Given the description of an element on the screen output the (x, y) to click on. 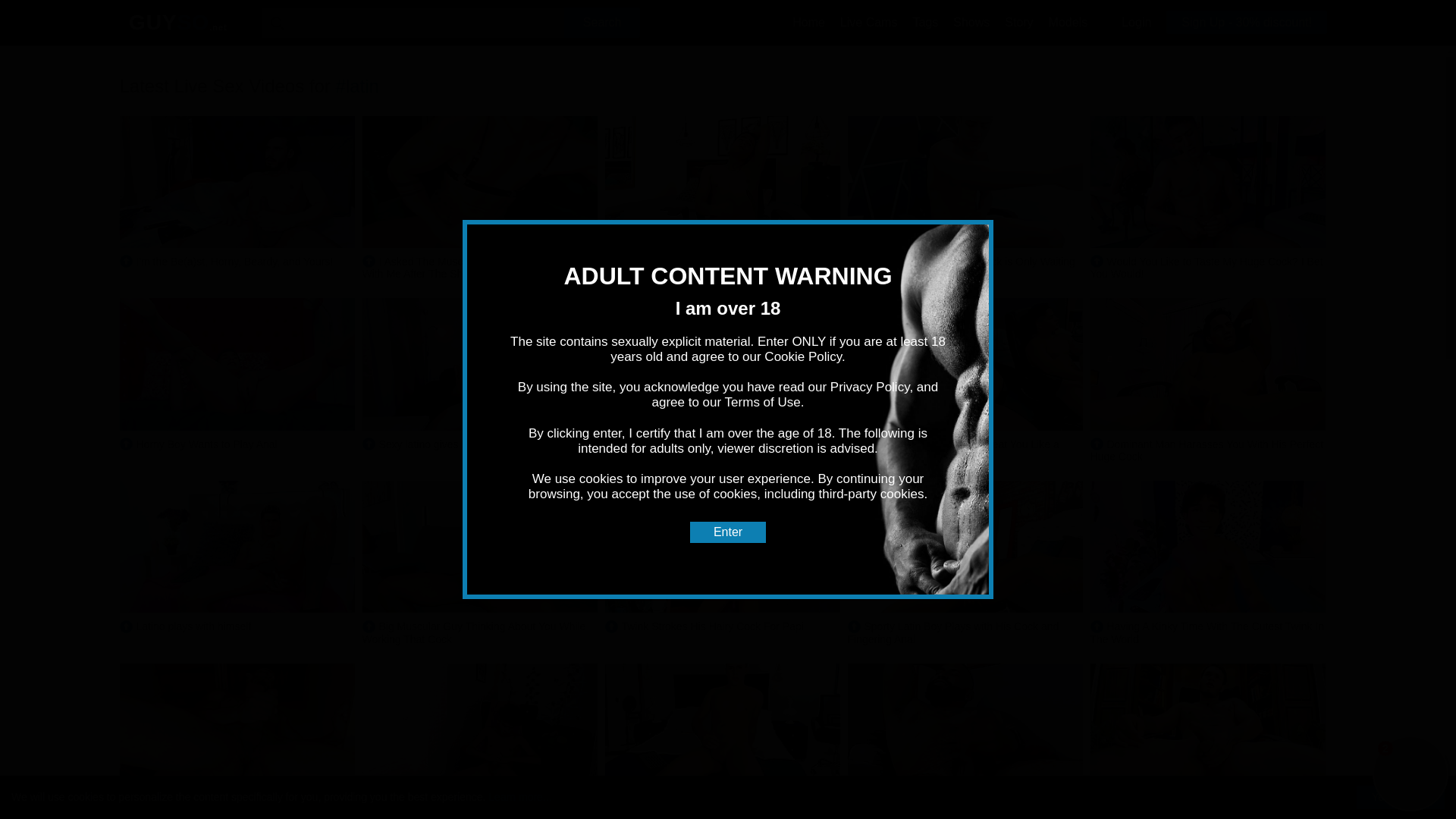
Tags (924, 21)
Story (1018, 21)
Live Cams (869, 21)
Models (1067, 21)
Login (1136, 21)
Shows (971, 21)
GuySo.net (178, 22)
GUYSO.net (178, 22)
Home (808, 21)
